Given the description of an element on the screen output the (x, y) to click on. 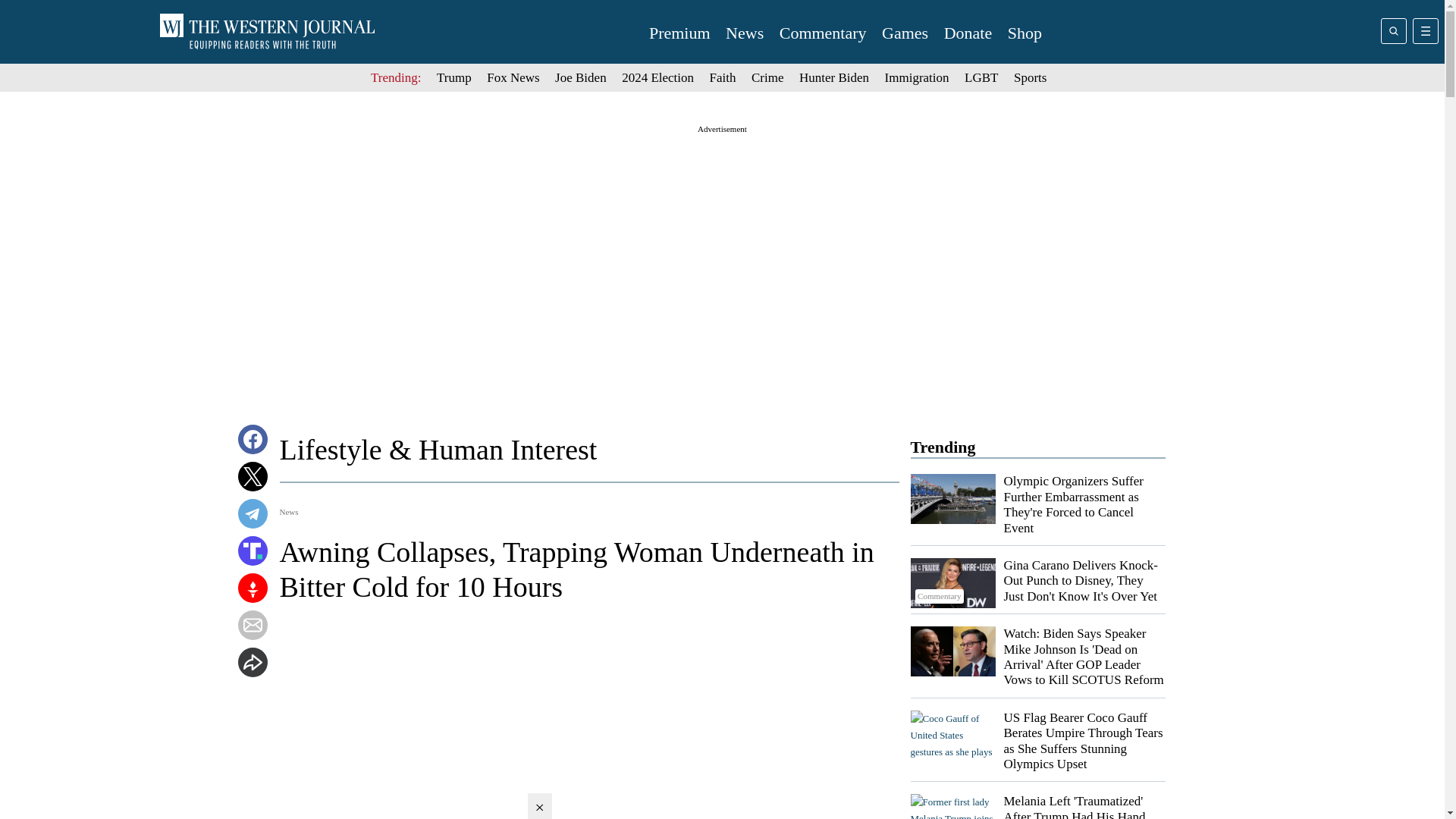
Immigration (917, 77)
LGBT (980, 77)
Premium (679, 32)
Faith (723, 77)
2024 Election (657, 77)
Joe Biden (580, 77)
Commentary (952, 582)
Fox News (512, 77)
Trump (453, 77)
Games (905, 32)
News (743, 32)
Donate (967, 32)
Hunter Biden (834, 77)
